Given the description of an element on the screen output the (x, y) to click on. 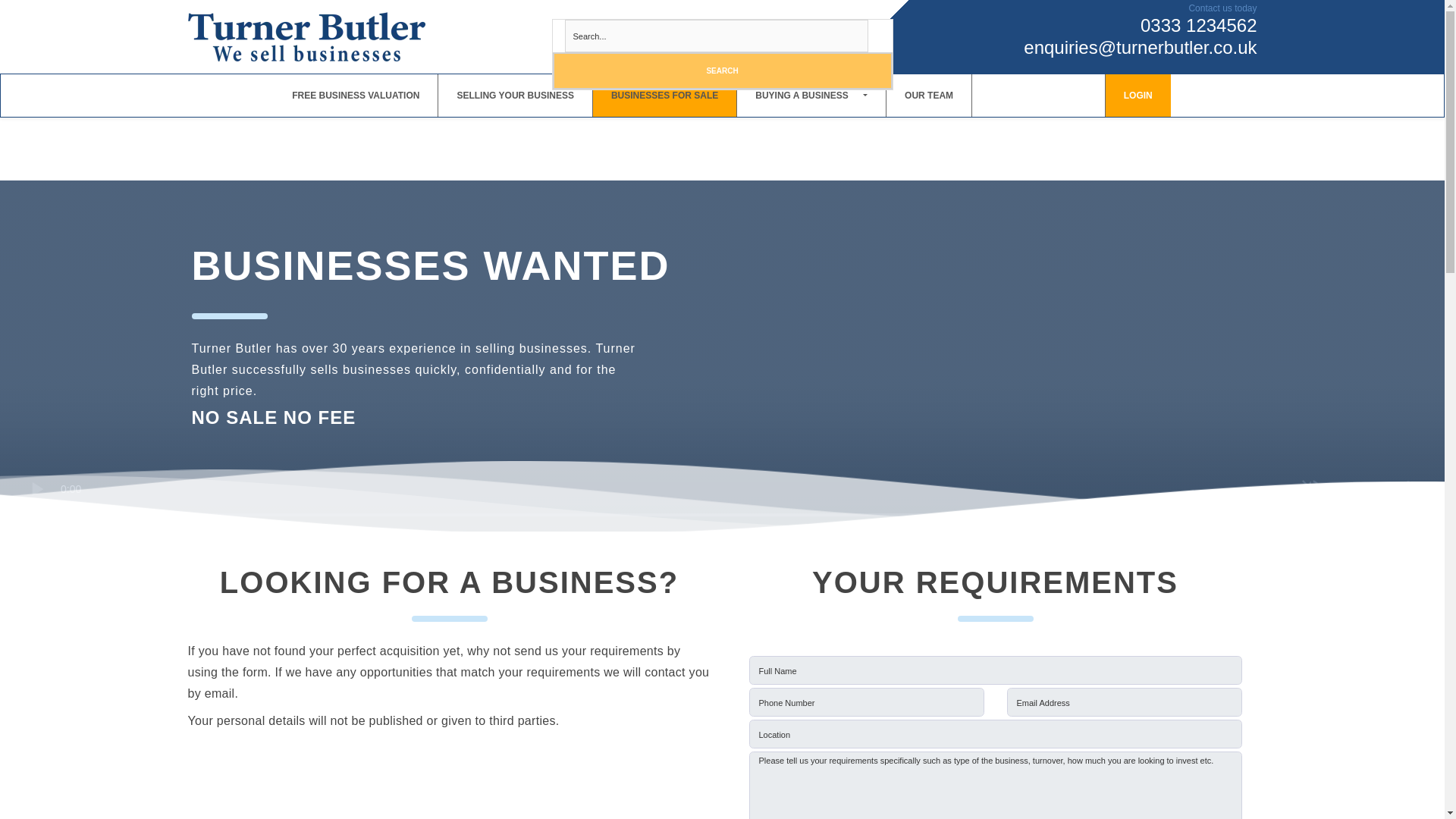
0333 1234562 (1198, 25)
BUYING A BUSINESS (810, 95)
OUR TEAM (928, 95)
Search (721, 70)
Search (721, 70)
Search (721, 70)
LOGIN (1137, 95)
FREE BUSINESS VALUATION (355, 95)
BUSINESSES FOR SALE (664, 95)
SELLING YOUR BUSINESS (514, 95)
RECENT SUCCESSES (1038, 95)
